Given the description of an element on the screen output the (x, y) to click on. 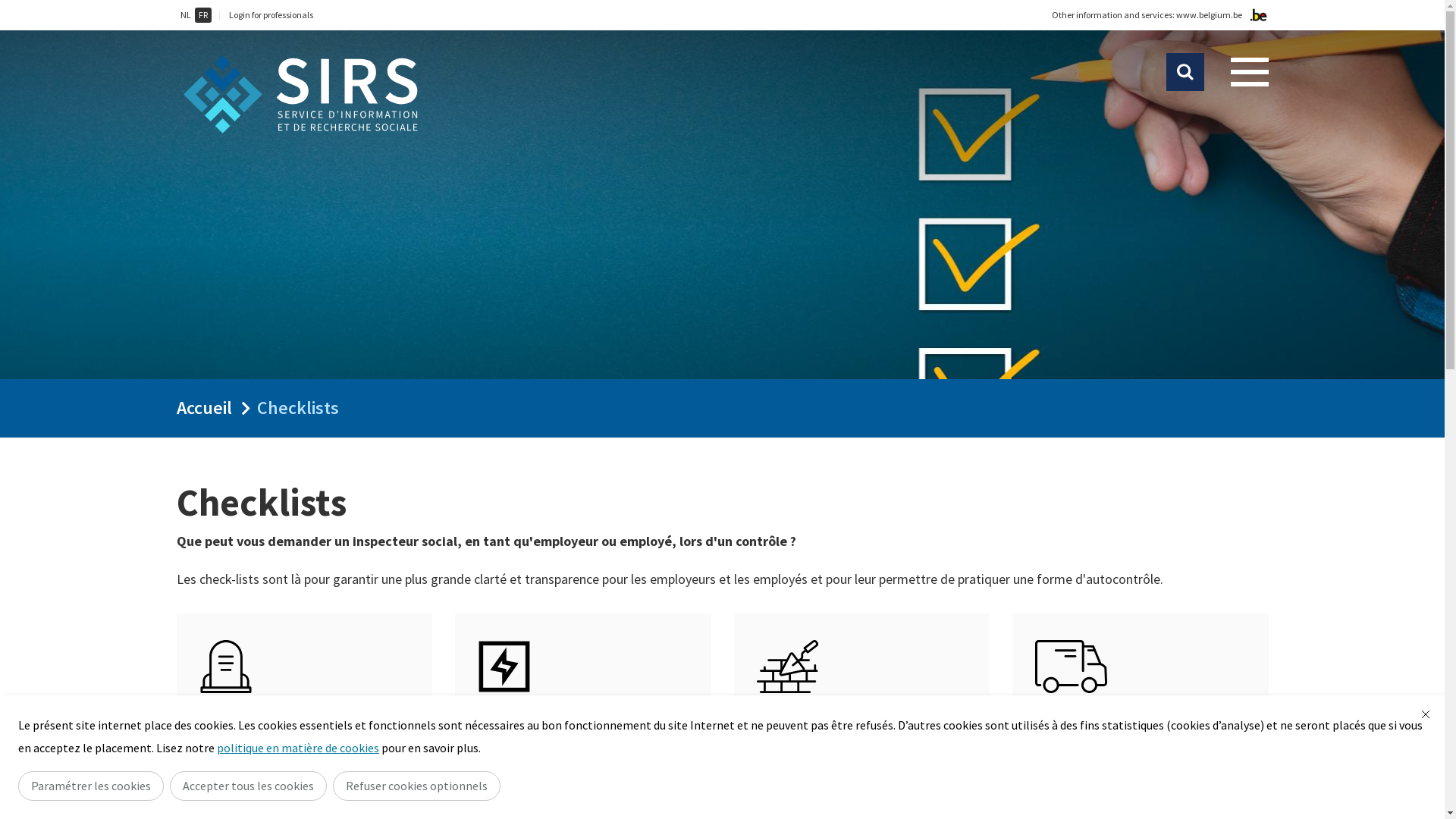
Login for professionals Element type: text (271, 14)
Accueil Element type: text (203, 407)
Menu Element type: text (1248, 72)
Apply Element type: text (1185, 72)
Aller au contenu principal Element type: text (7, 4)
NL Element type: text (184, 14)
Refuser cookies optionnels Element type: text (416, 785)
Fermer Element type: hover (1425, 714)
www.belgium.be Element type: text (1209, 14)
FR Element type: text (202, 14)
Accepter tous les cookies Element type: text (247, 785)
